Given the description of an element on the screen output the (x, y) to click on. 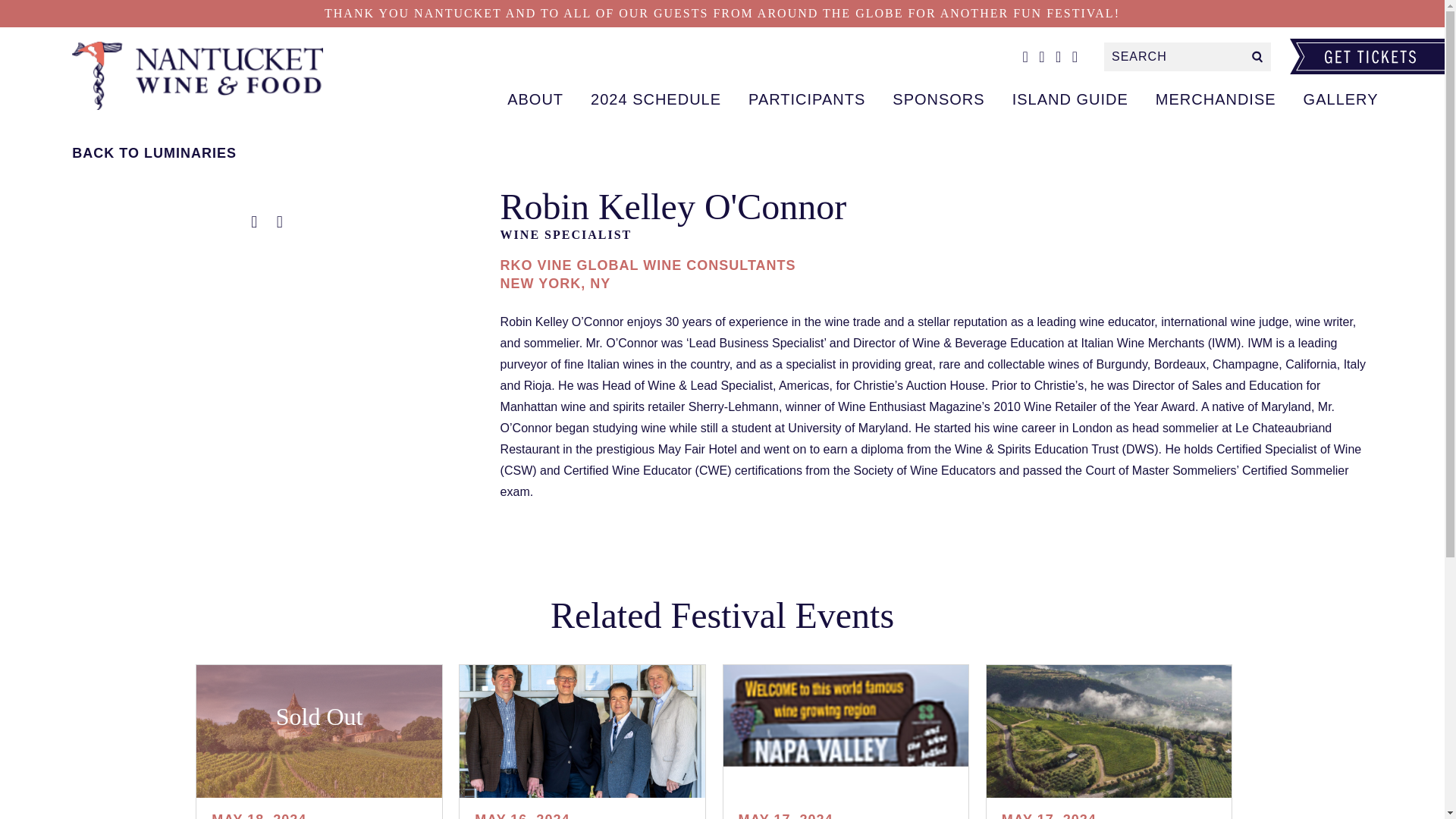
Participants (208, 75)
SPONSORS (938, 99)
BACK TO LUMINARIES (266, 153)
ABOUT (534, 99)
MERCHANDISE (1215, 99)
2024 SCHEDULE (655, 99)
GALLERY (1340, 99)
ISLAND GUIDE (1069, 99)
PARTICIPANTS (807, 99)
